Given the description of an element on the screen output the (x, y) to click on. 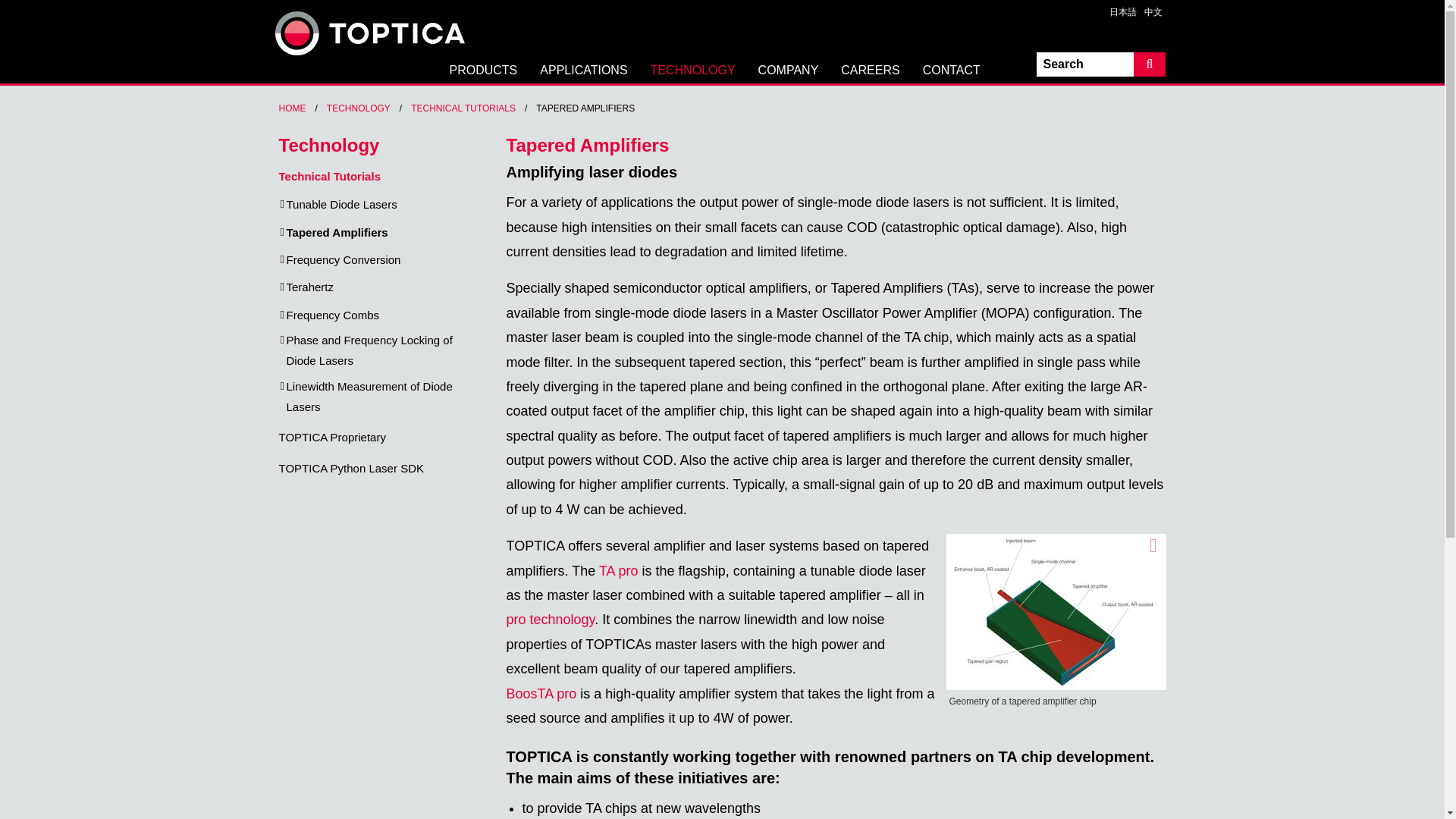
Tapered Amplifiers (337, 231)
Terahertz (310, 286)
Phase and Frequency Locking of Diode Lasers (384, 350)
Linewidth Measurement of Diode Lasers (384, 395)
Technical Tutorials (329, 176)
Frequency Combs (333, 314)
Technology (692, 74)
Tunable Diode Lasers (341, 204)
TOPTICA Geometry of a tapered amplifier chip (1056, 611)
TOPTICA Proprietary (332, 437)
TOPTICA Python Laser SDK (351, 468)
To Chinese Website (1148, 12)
Frequency Conversion (343, 259)
Technical Tutorials (462, 108)
Home (292, 108)
